Given the description of an element on the screen output the (x, y) to click on. 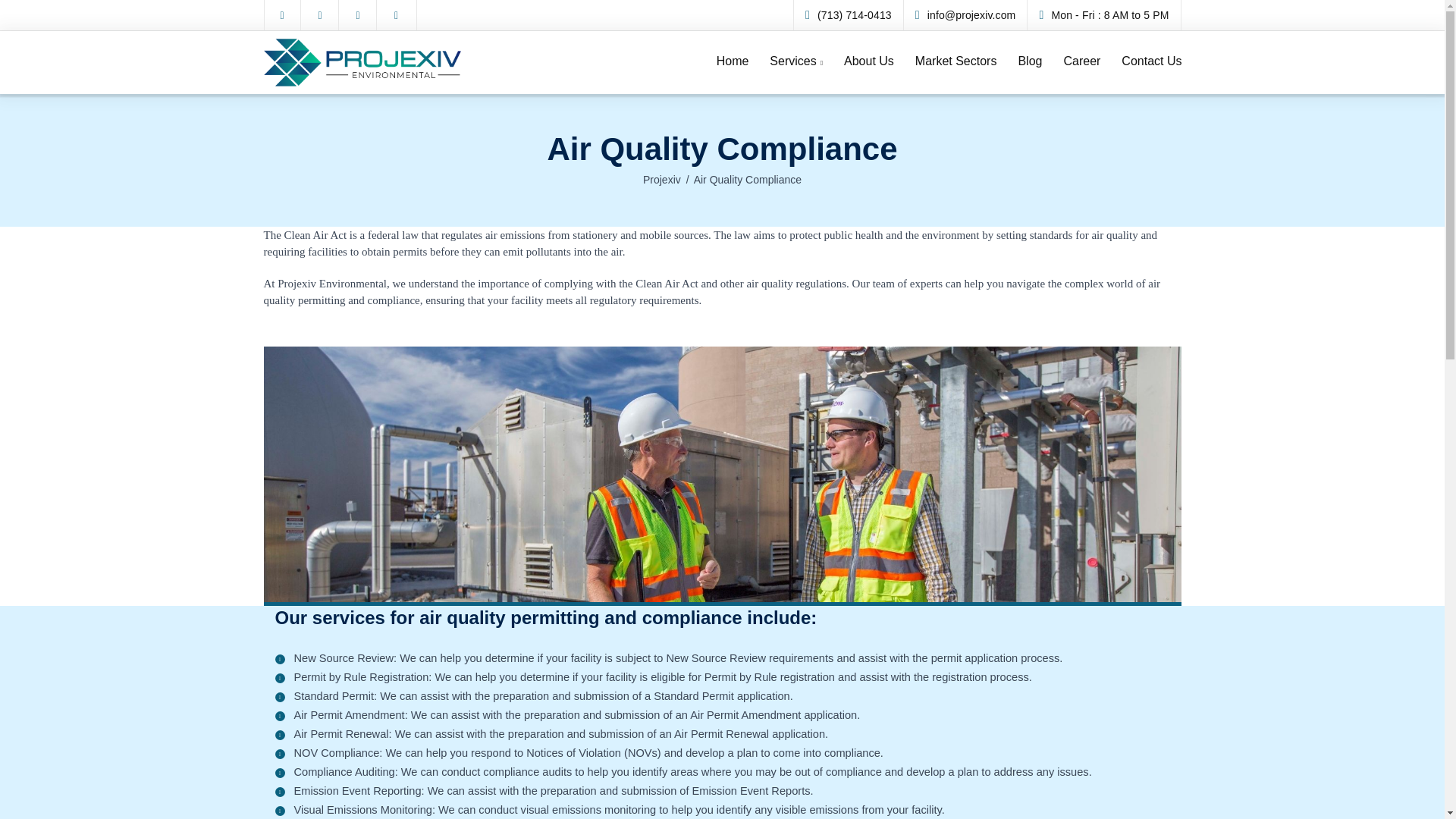
Go to Projexiv. (662, 179)
Contact Us (1151, 61)
About Us (868, 61)
Services (795, 61)
Home (733, 61)
Market Sectors (955, 61)
Projexiv (662, 179)
Career (1081, 61)
Blog (1029, 61)
